Given the description of an element on the screen output the (x, y) to click on. 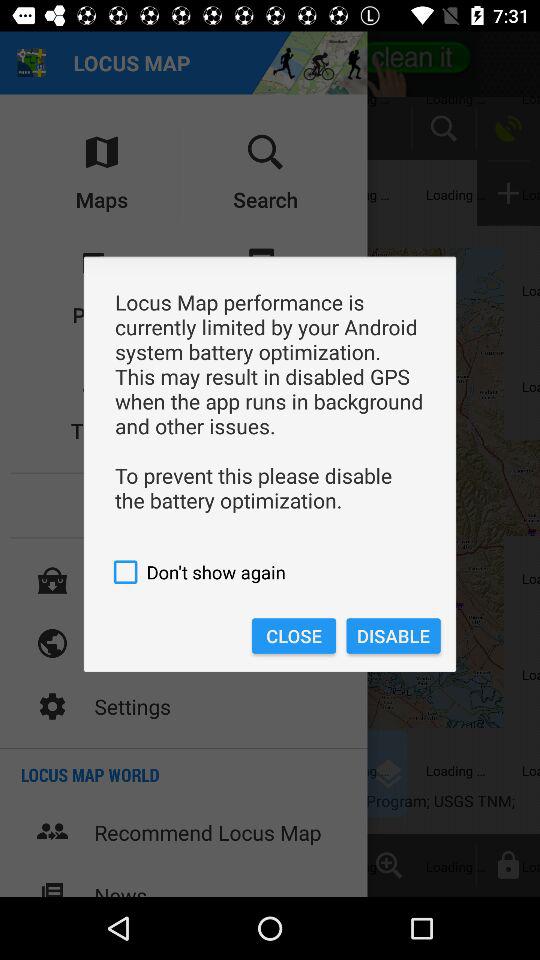
scroll to the don t show item (269, 572)
